Given the description of an element on the screen output the (x, y) to click on. 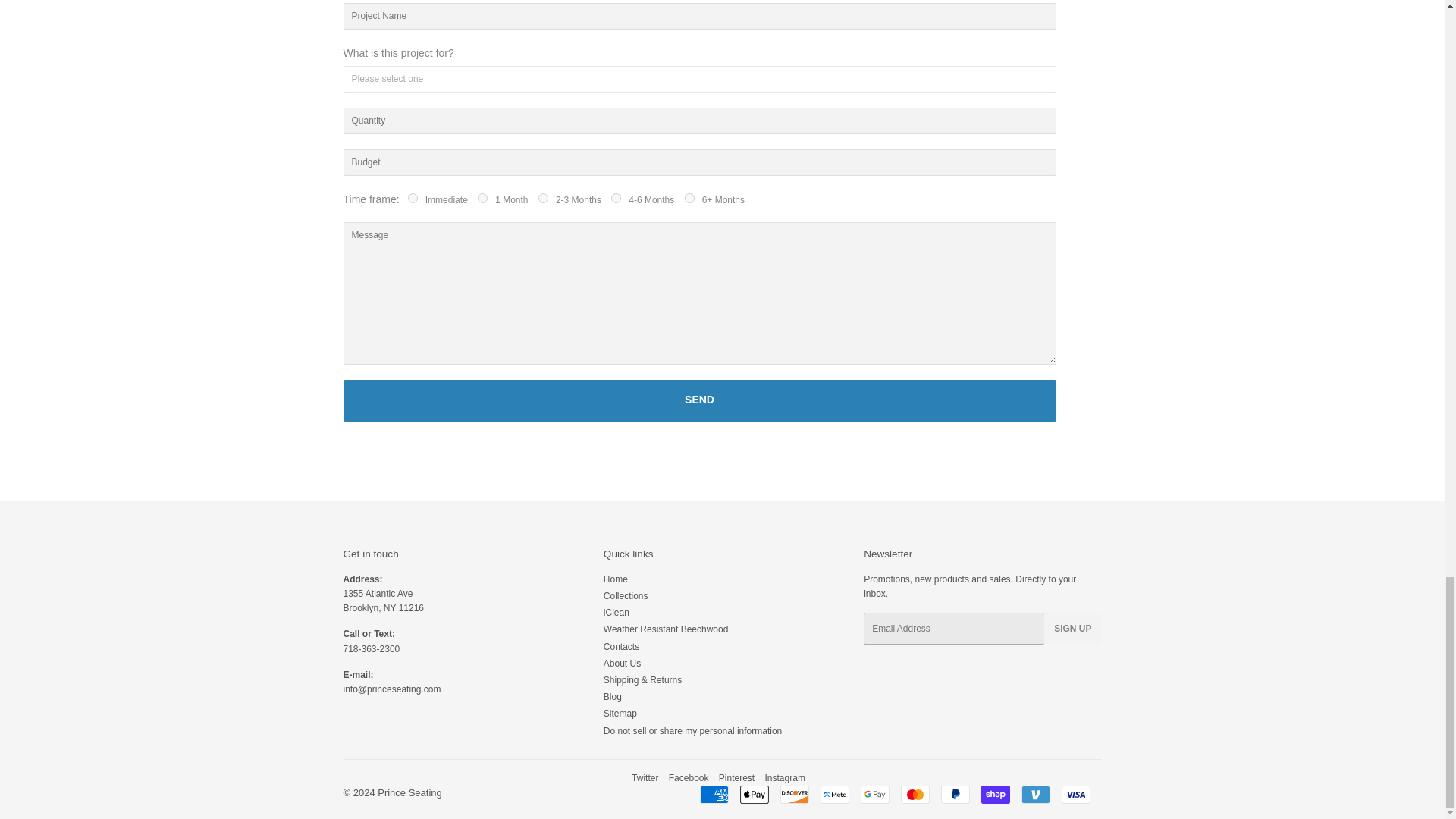
Prince Seating on Instagram (785, 777)
Discover (793, 794)
Apple Pay (753, 794)
4-6 Months (616, 198)
Mastercard (915, 794)
2-3 Months (543, 198)
Prince Seating on Twitter (644, 777)
Meta Pay (834, 794)
Google Pay (874, 794)
Immediate (412, 198)
